Given the description of an element on the screen output the (x, y) to click on. 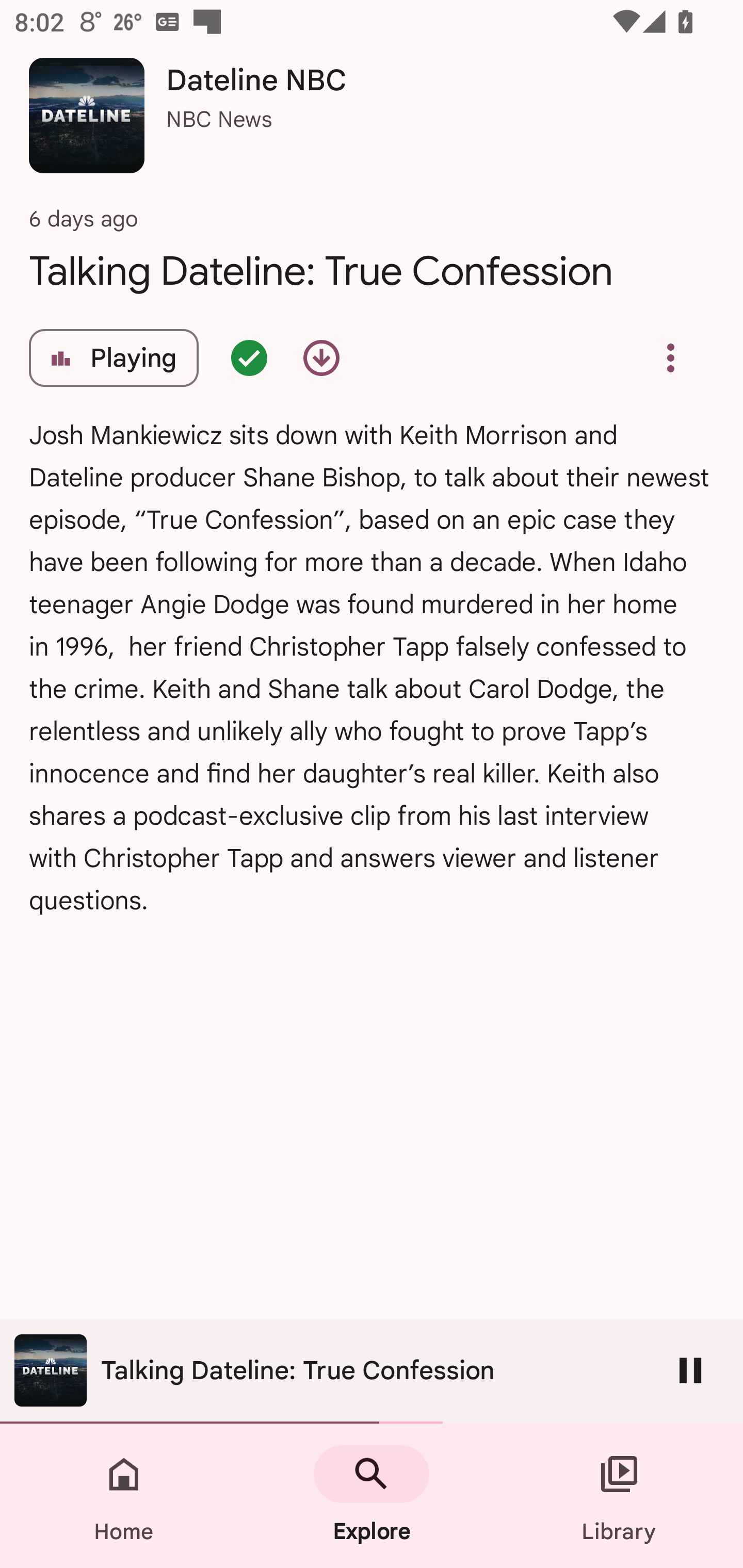
Dateline NBC Dateline NBC NBC News (371, 122)
Episode queued - double tap for options (249, 358)
Download episode (321, 358)
Overflow menu (670, 358)
Pause (690, 1370)
Home (123, 1495)
Library (619, 1495)
